Given the description of an element on the screen output the (x, y) to click on. 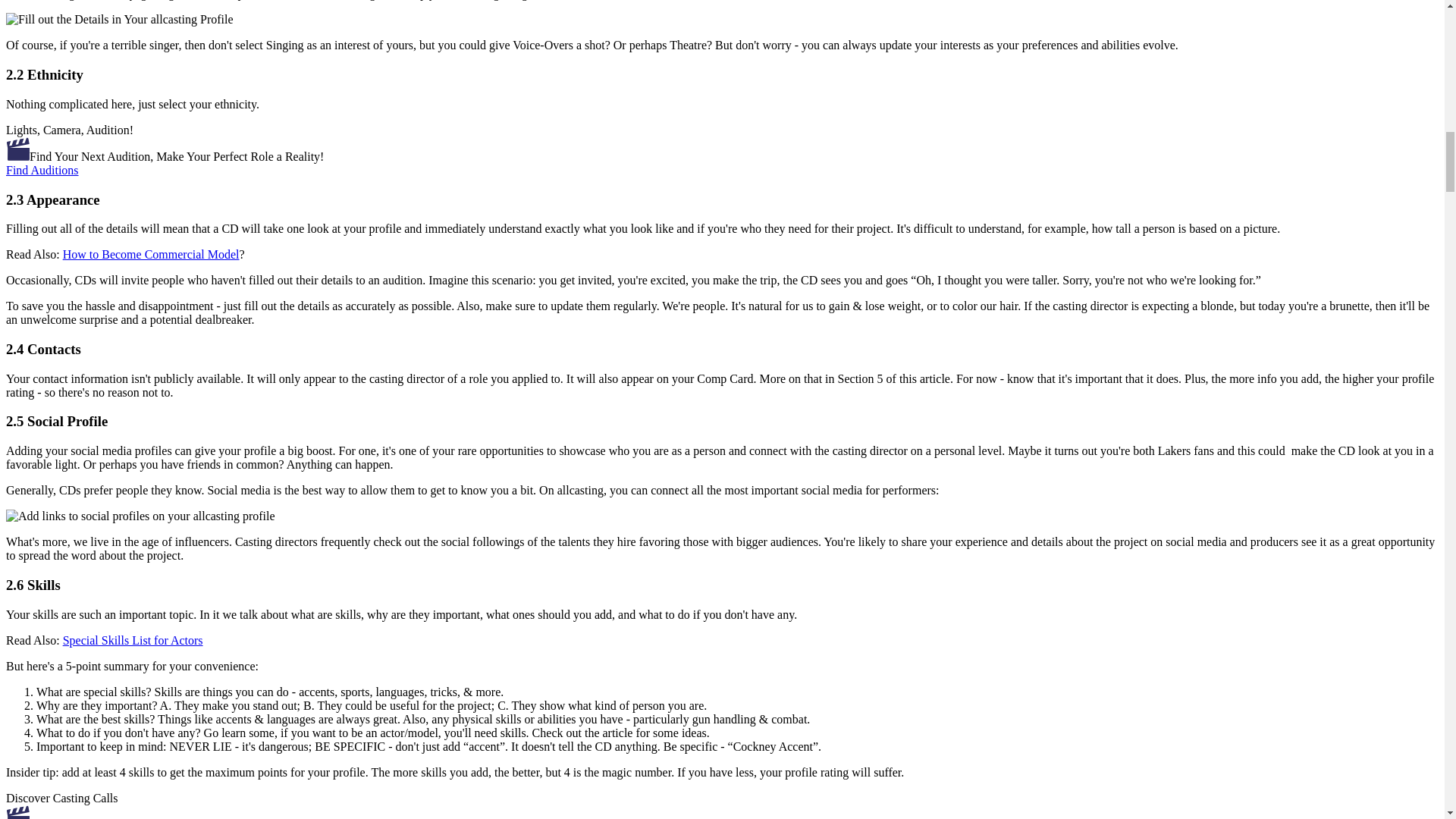
Find Auditions (41, 169)
How to Become Commercial Model (151, 254)
Special Skills List for Actors (132, 640)
